Given the description of an element on the screen output the (x, y) to click on. 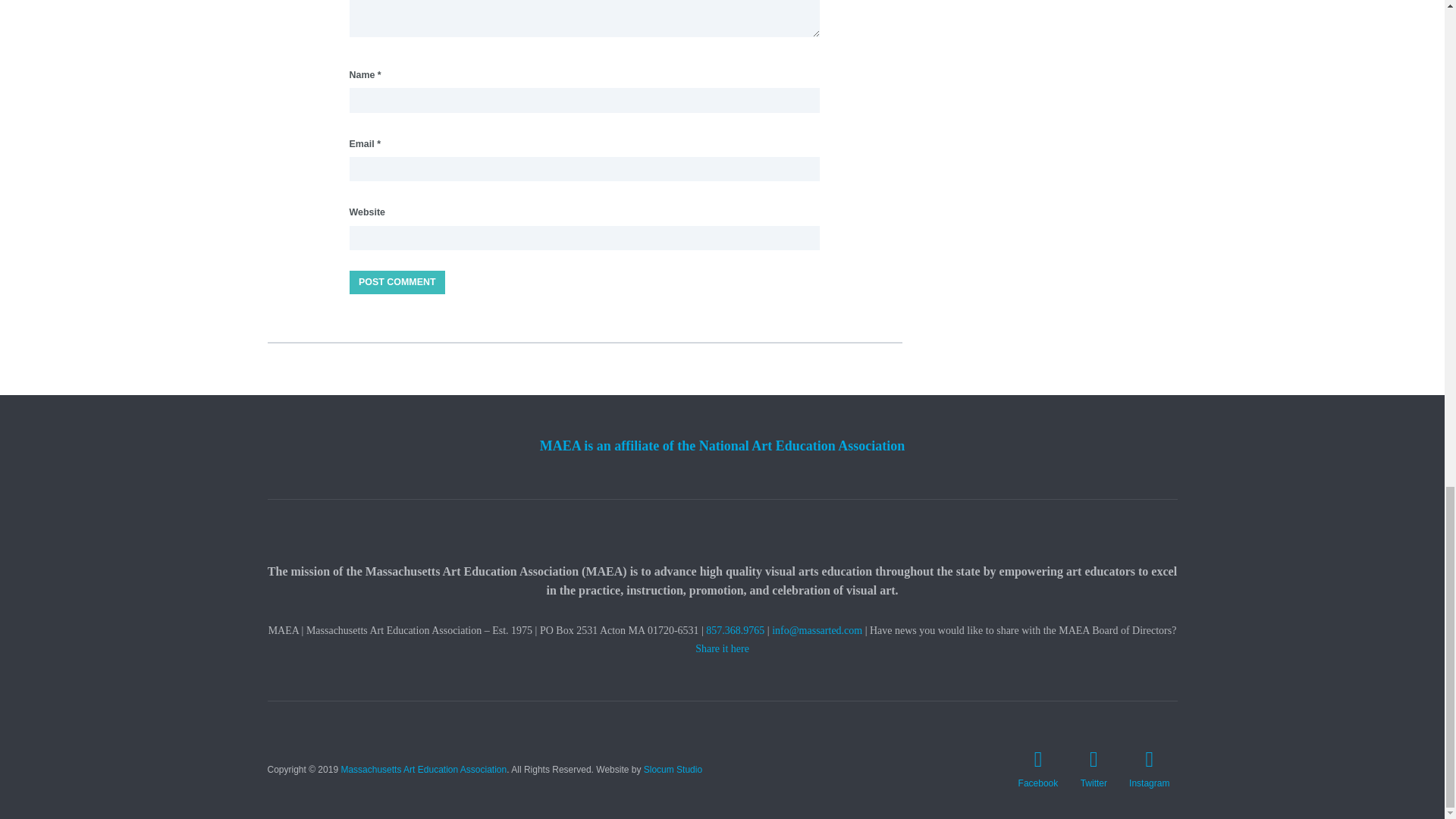
Post Comment (396, 282)
